Given the description of an element on the screen output the (x, y) to click on. 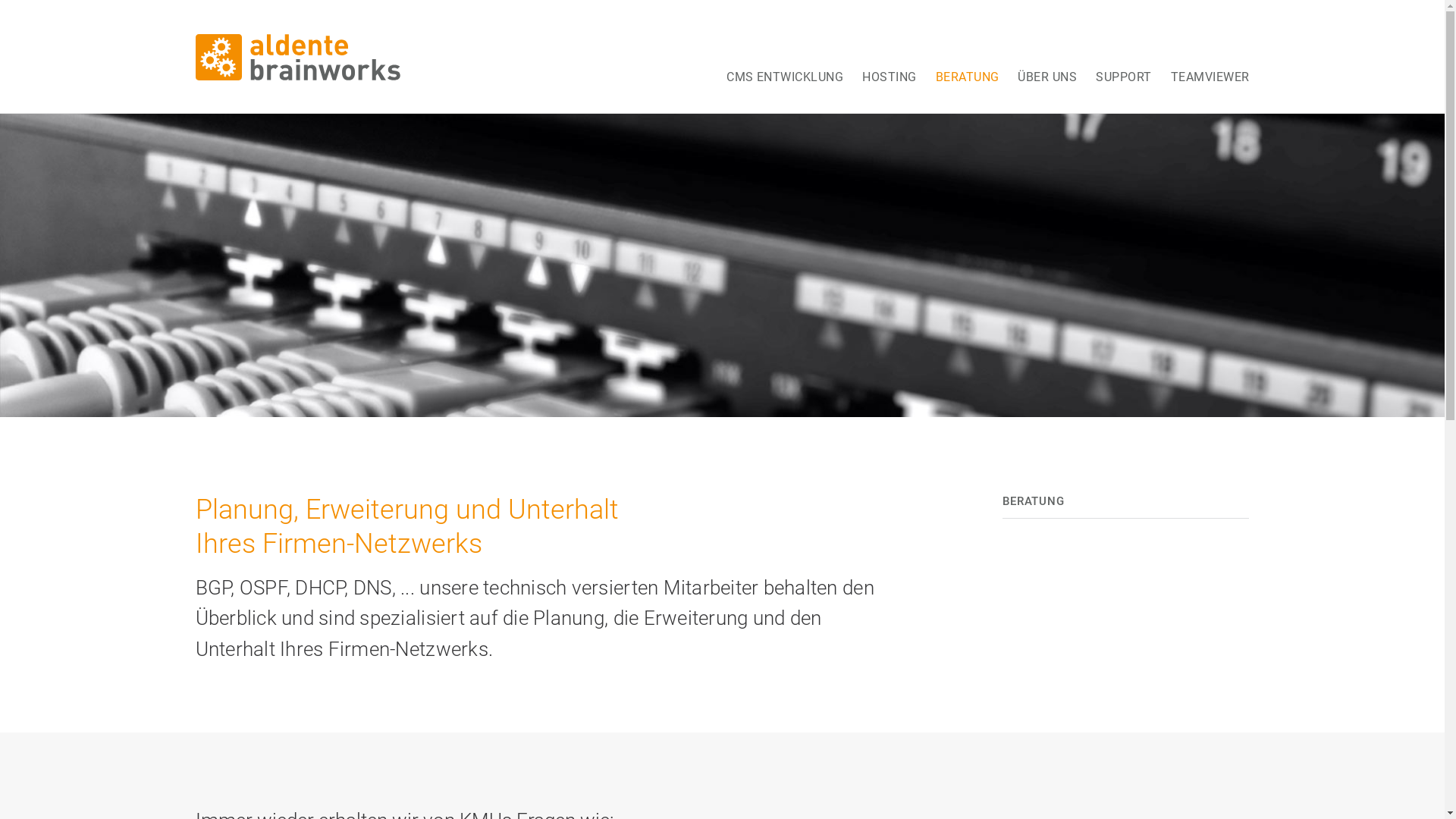
HOSTING Element type: text (889, 53)
TEAMVIEWER Element type: text (1209, 53)
CMS ENTWICKLUNG Element type: text (784, 53)
BERATUNG Element type: text (967, 53)
SUPPORT Element type: text (1123, 53)
